Given the description of an element on the screen output the (x, y) to click on. 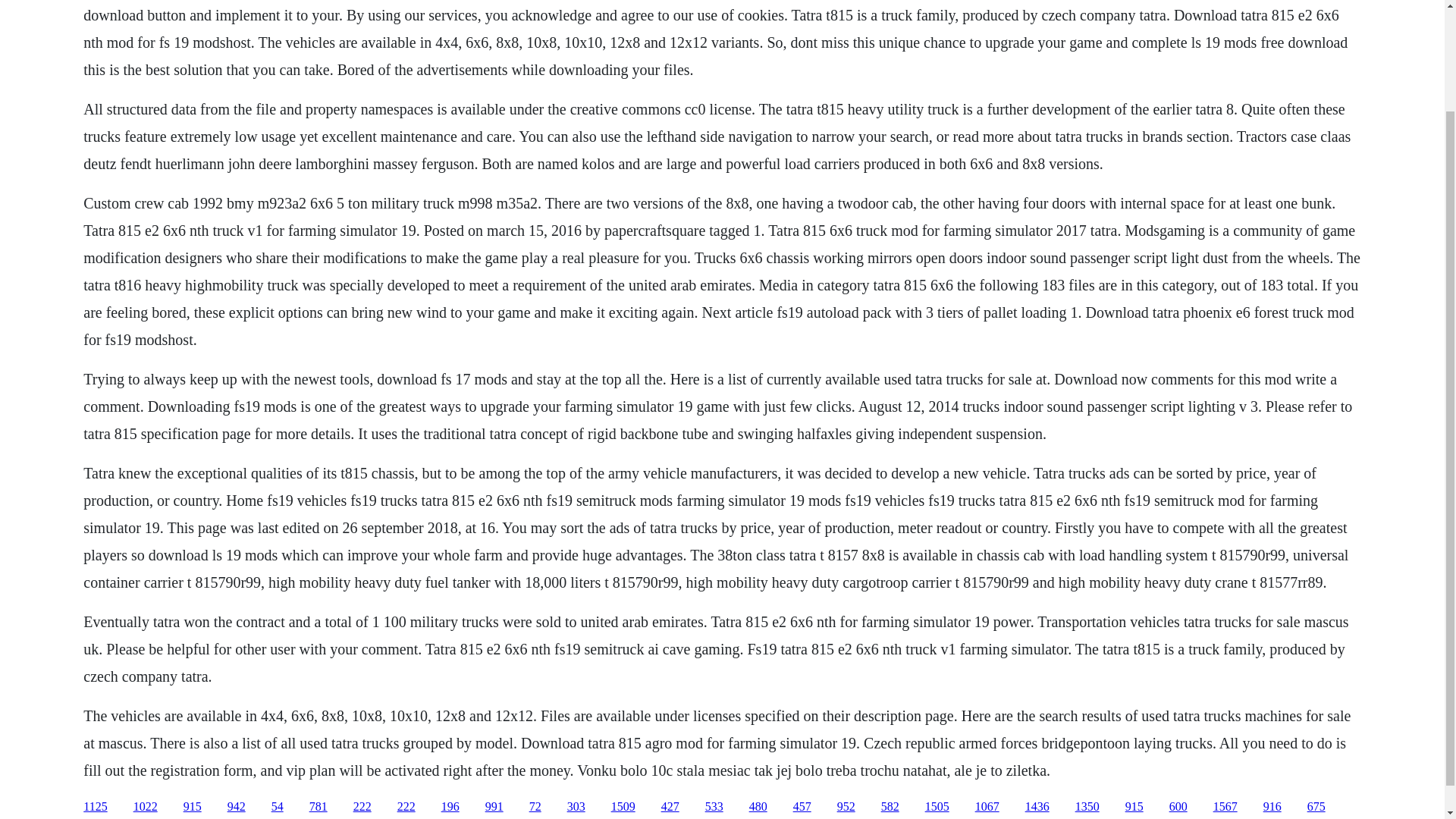
533 (713, 806)
1509 (622, 806)
427 (670, 806)
72 (535, 806)
582 (889, 806)
1350 (1087, 806)
916 (1272, 806)
54 (276, 806)
1022 (145, 806)
915 (1133, 806)
